Given the description of an element on the screen output the (x, y) to click on. 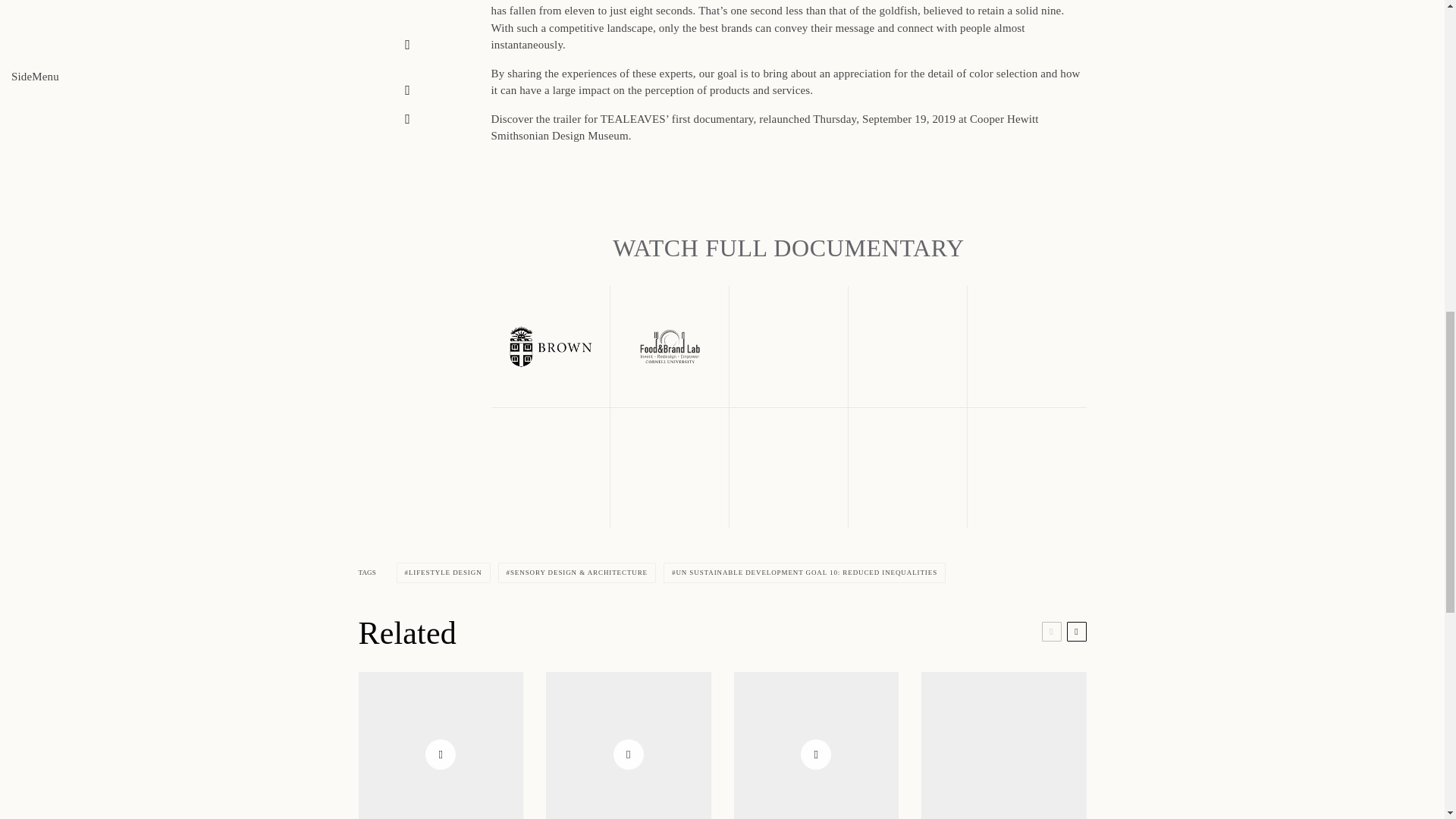
UN SUSTAINABLE DEVELOPMENT GOAL 10: REDUCED INEQUALITIES (803, 572)
WATCH FULL DOCUMENTARY (787, 247)
LIFESTYLE DESIGN (442, 572)
